Given the description of an element on the screen output the (x, y) to click on. 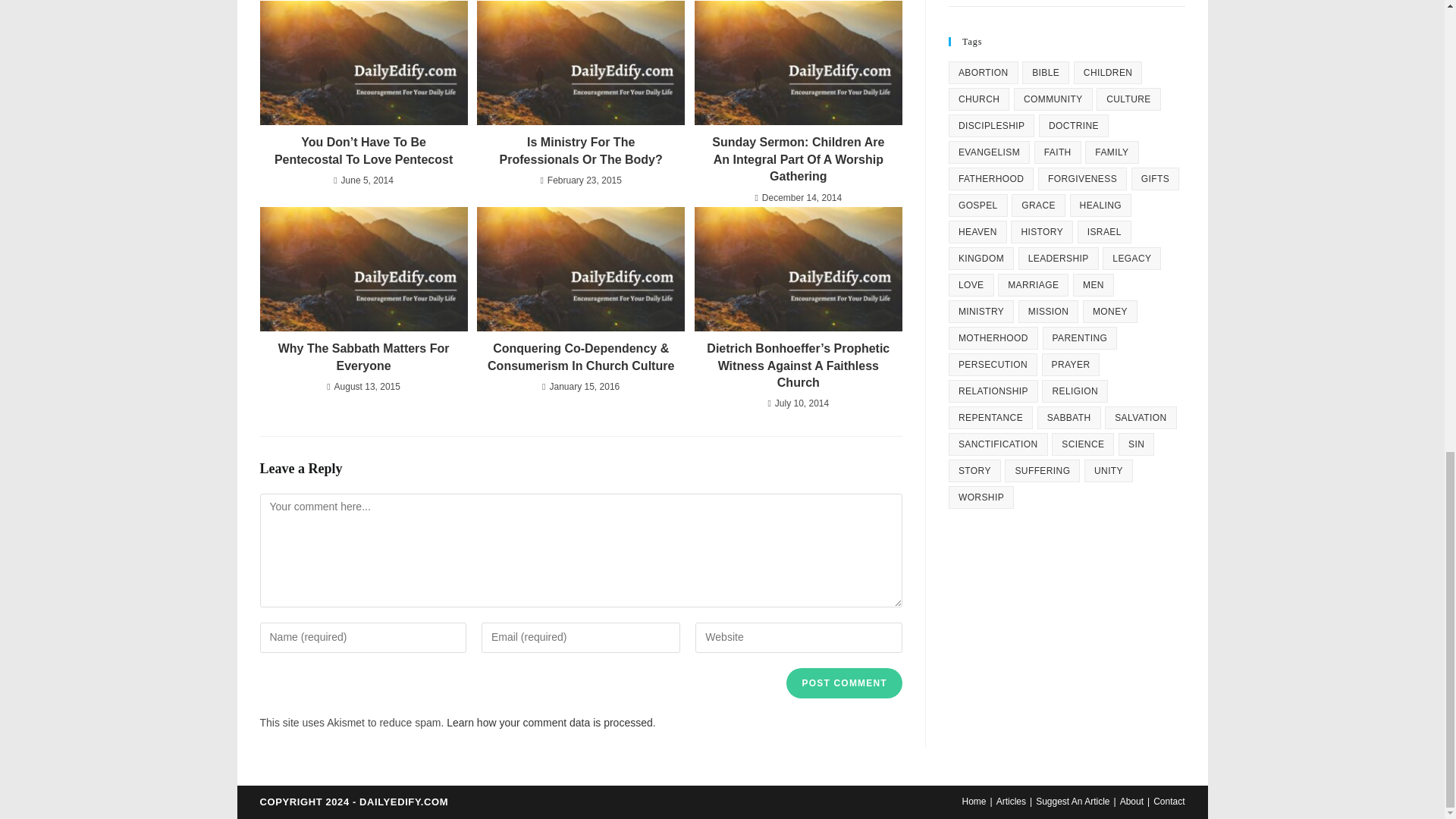
Post Comment (843, 683)
Is Ministry For The Professionals Or The Body? (580, 151)
